Given the description of an element on the screen output the (x, y) to click on. 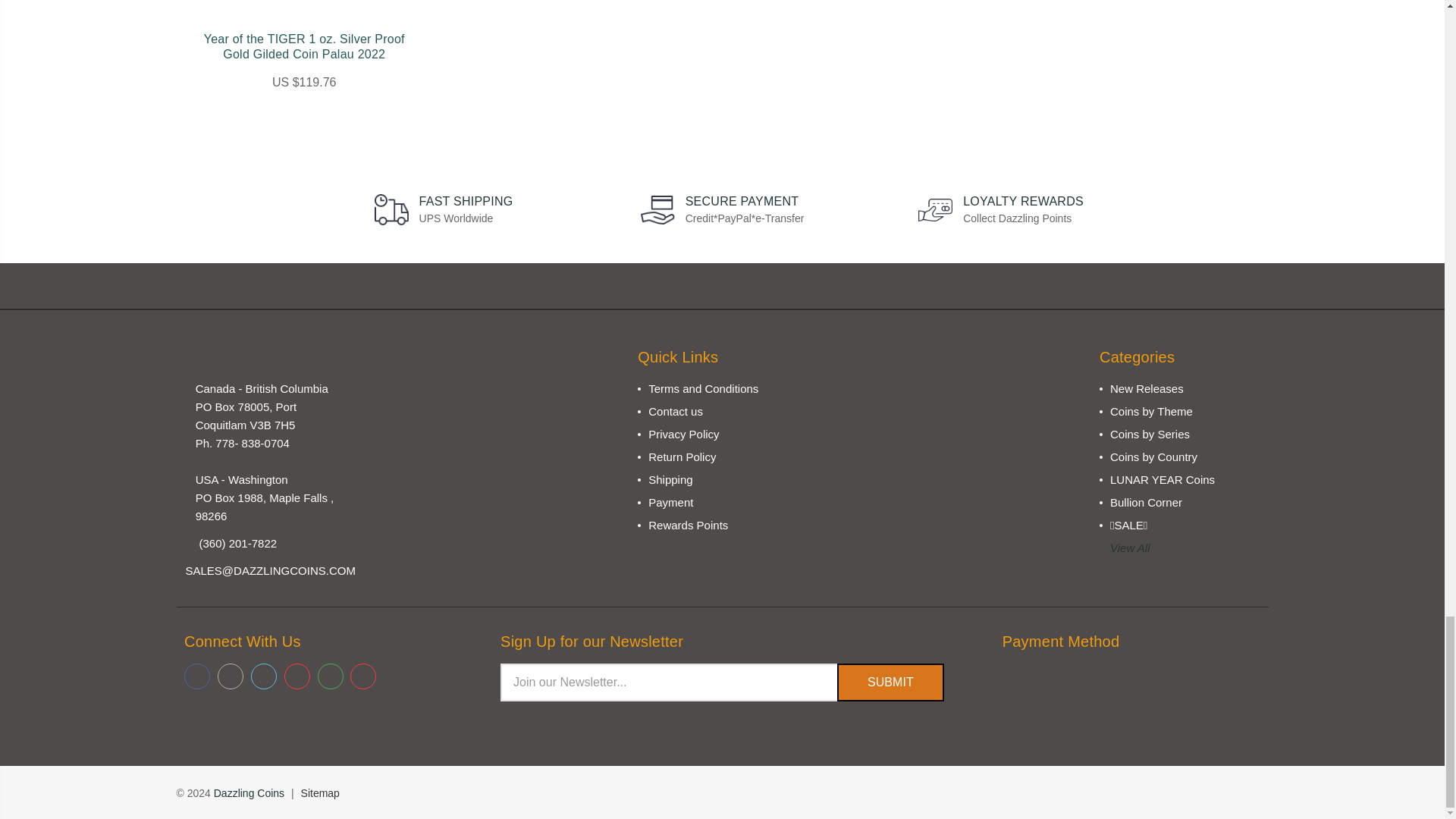
submit (890, 682)
